Given the description of an element on the screen output the (x, y) to click on. 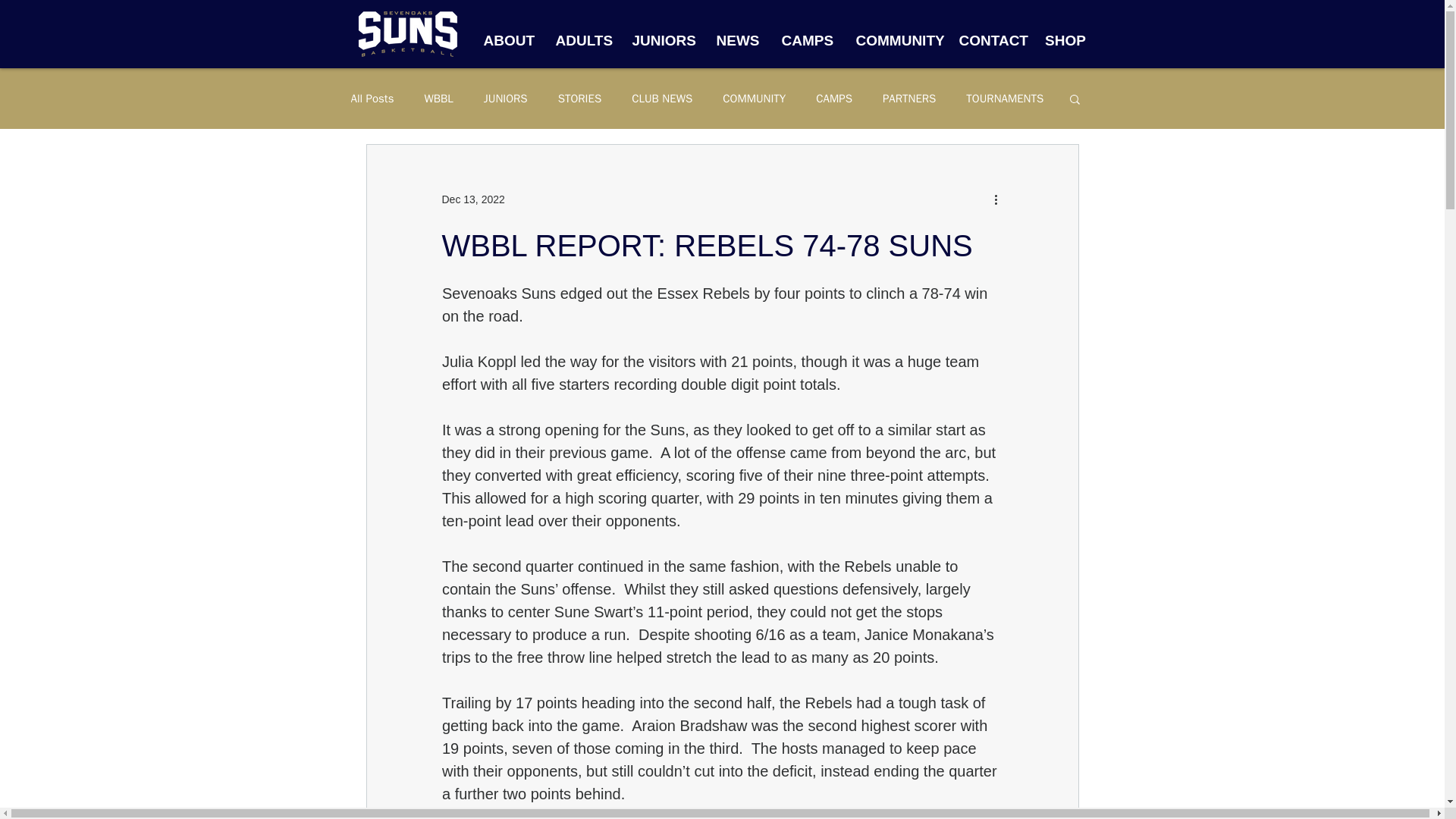
STORIES (579, 97)
CAMPS (807, 38)
JUNIORS (505, 97)
NEWS (737, 38)
ABOUT (507, 38)
Dec 13, 2022 (472, 198)
CLUB NEWS (662, 97)
COMMUNITY (895, 38)
TOURNAMENTS (1004, 97)
WBBL (437, 97)
